Given the description of an element on the screen output the (x, y) to click on. 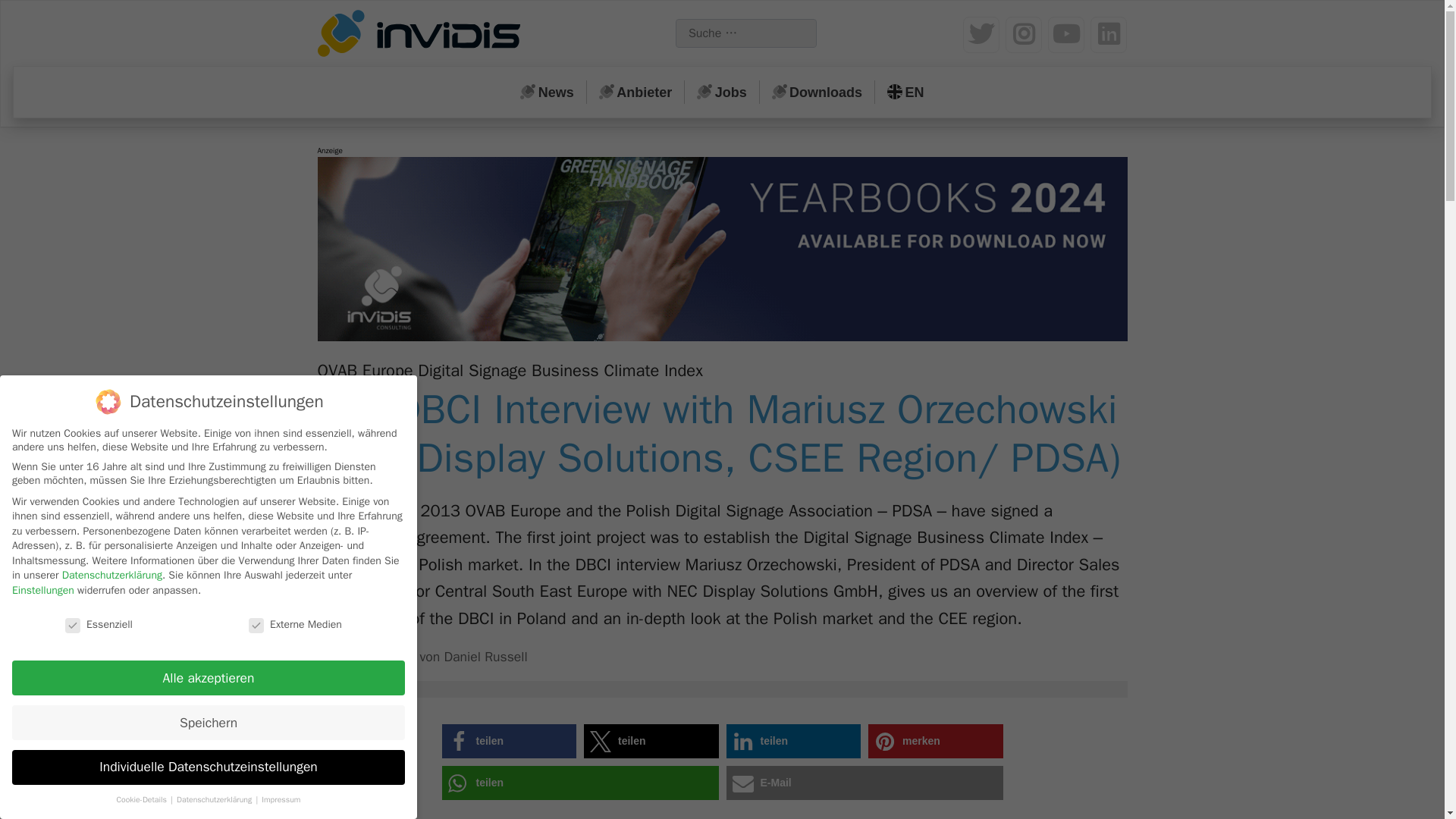
teilen  (651, 740)
Anbieter (635, 92)
invidis auf LinkedIn (1108, 34)
Bei LinkedIn teilen (793, 740)
Bei Facebook teilen (508, 740)
Anbieter (635, 92)
Open the english invidis website (905, 92)
Zur Startseite ... (422, 35)
News (547, 92)
Suchen (52, 20)
